Given the description of an element on the screen output the (x, y) to click on. 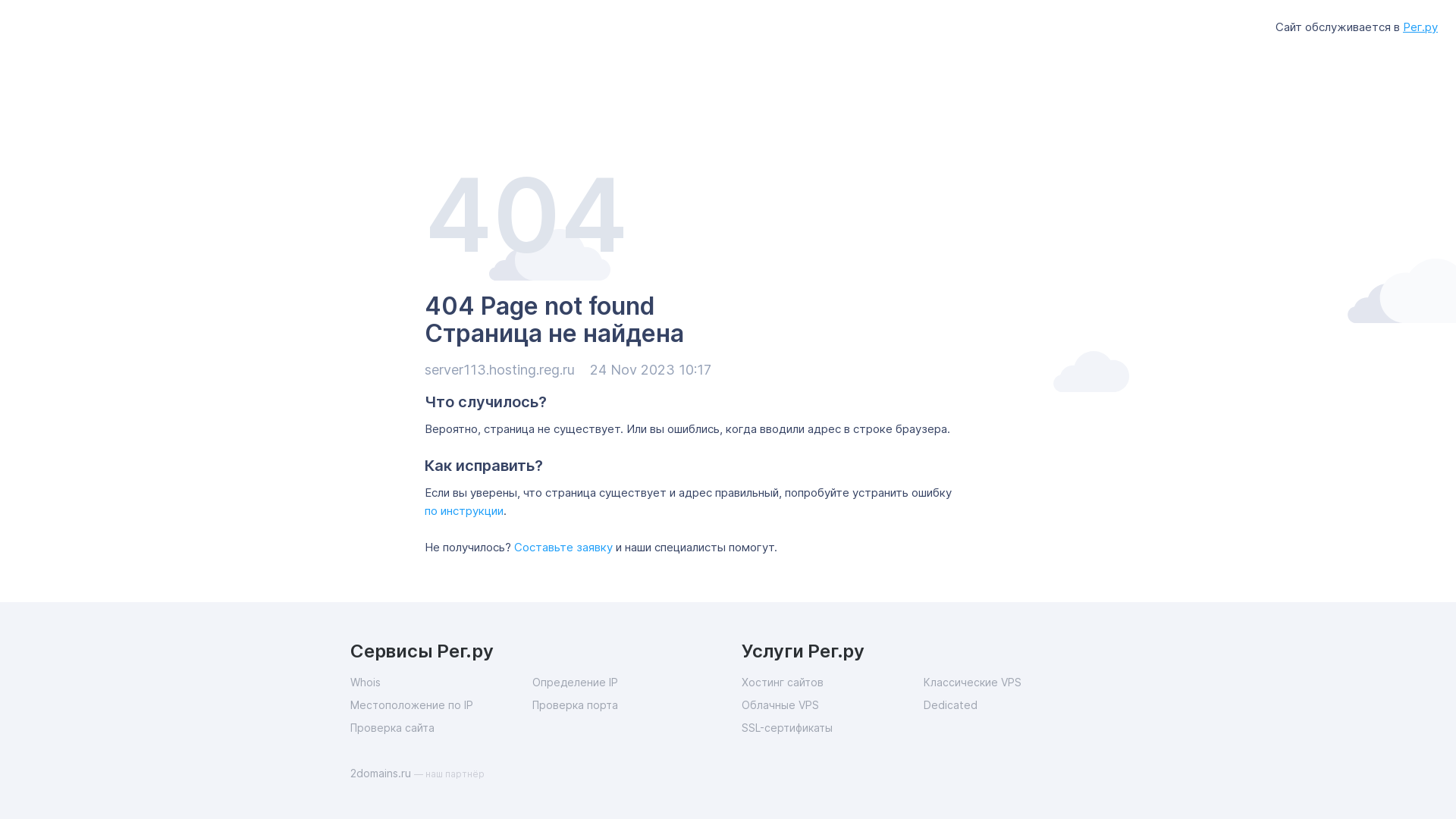
2domains.ru Element type: text (382, 772)
Dedicated Element type: text (1014, 705)
Whois Element type: text (441, 682)
